Given the description of an element on the screen output the (x, y) to click on. 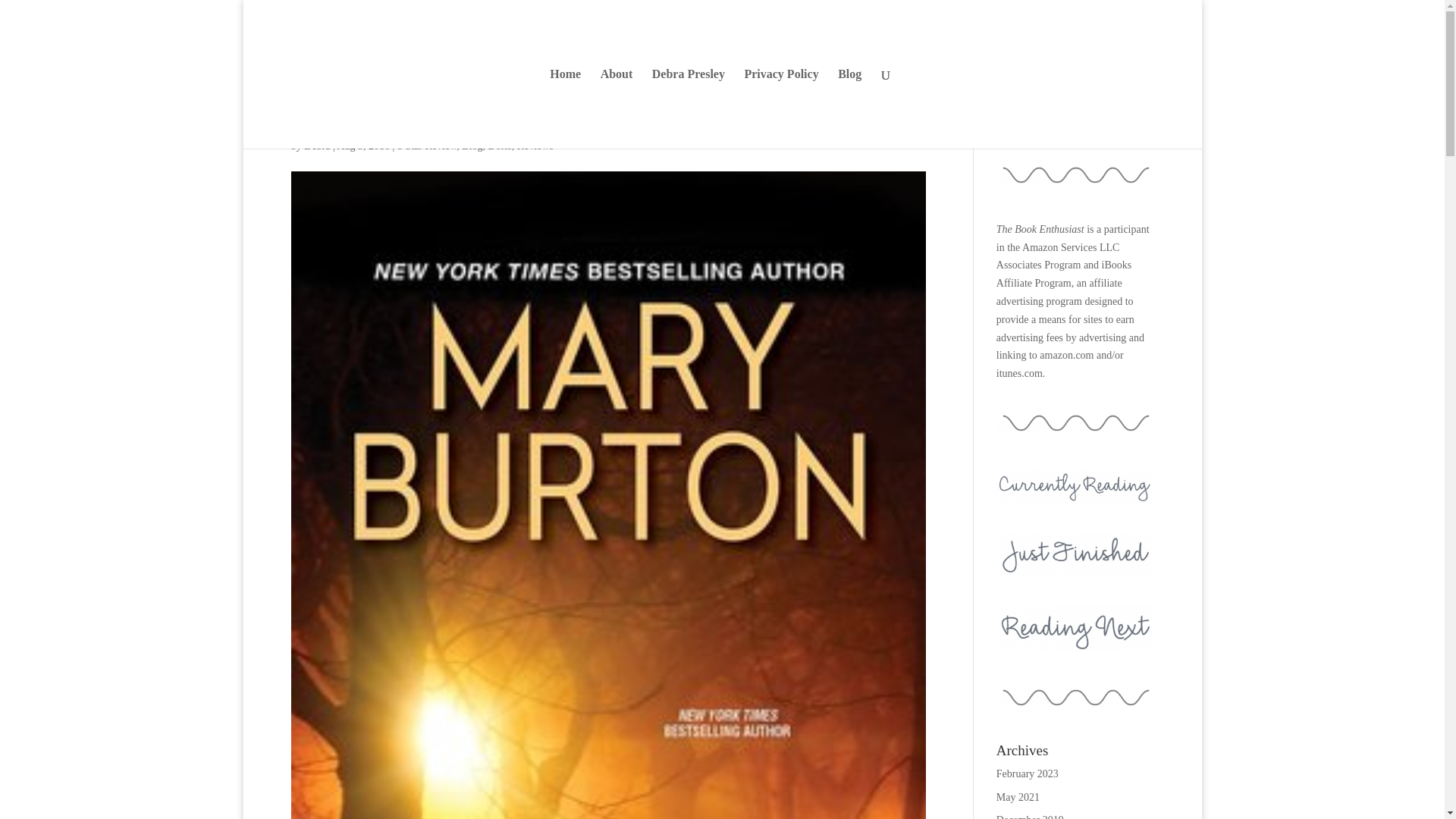
Doris (499, 145)
5 Star Review (427, 145)
Debra Presley (688, 108)
Debra (317, 145)
Blog (471, 145)
Reviews (534, 145)
December 2019 (1029, 816)
Search (1131, 119)
Privacy Policy (781, 108)
May 2021 (1017, 797)
